Given the description of an element on the screen output the (x, y) to click on. 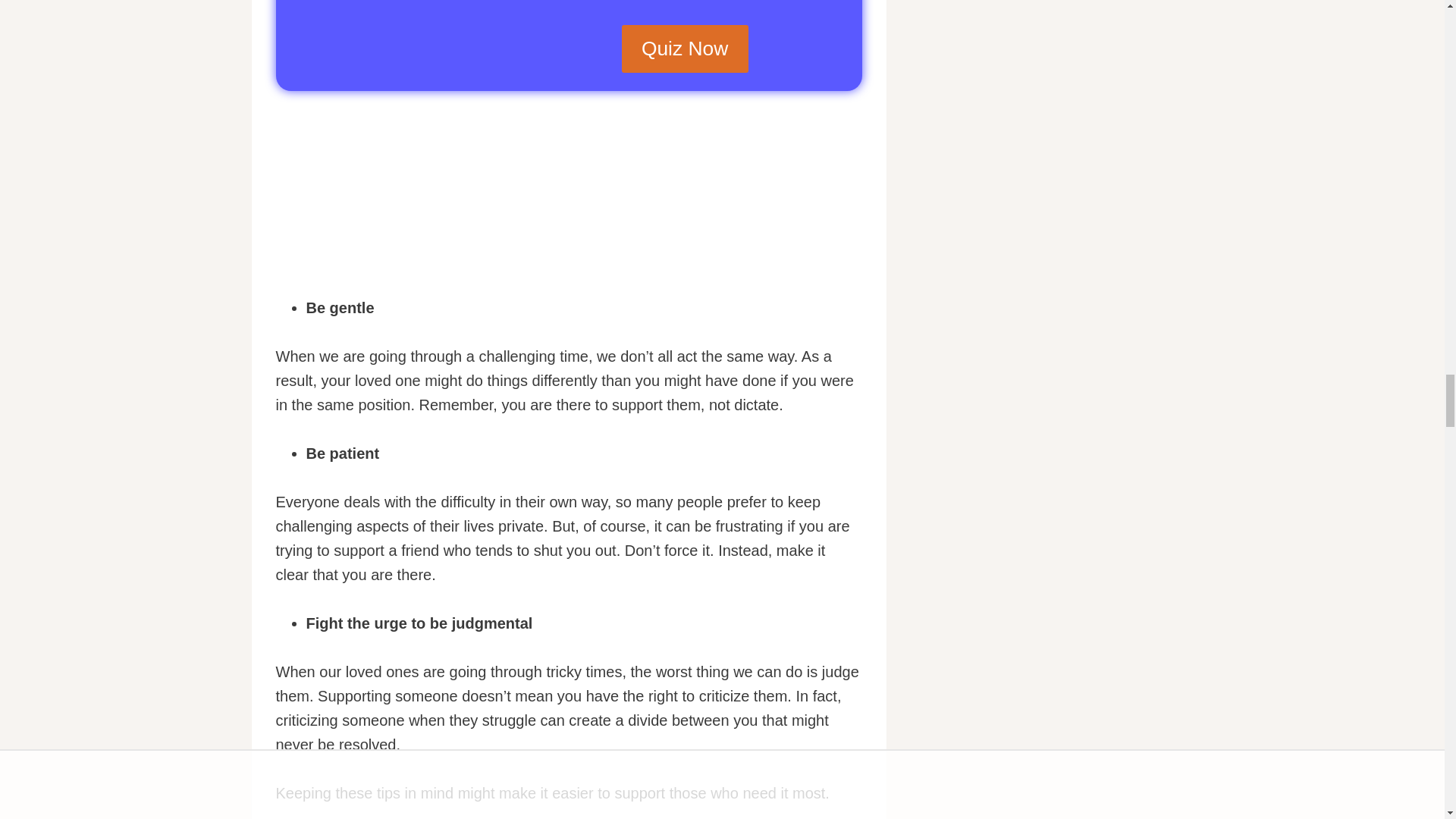
Quiz Now (684, 48)
